Given the description of an element on the screen output the (x, y) to click on. 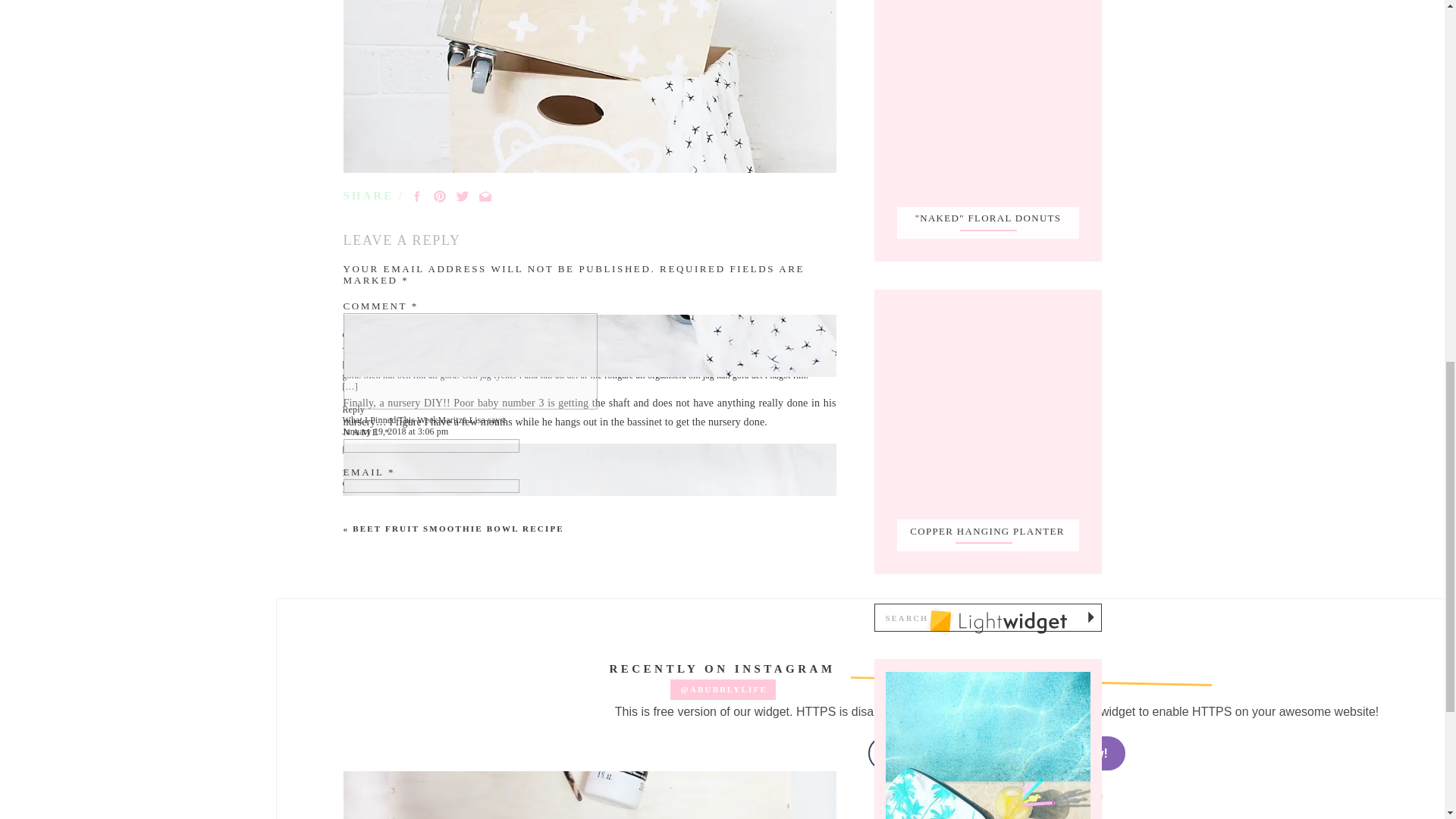
"NAKED" FLORAL DONUTS (988, 218)
yes (350, 552)
COPPER HANGING PLANTER (986, 531)
subscribe (350, 608)
subscribe (350, 637)
Post Comment (379, 679)
